Given the description of an element on the screen output the (x, y) to click on. 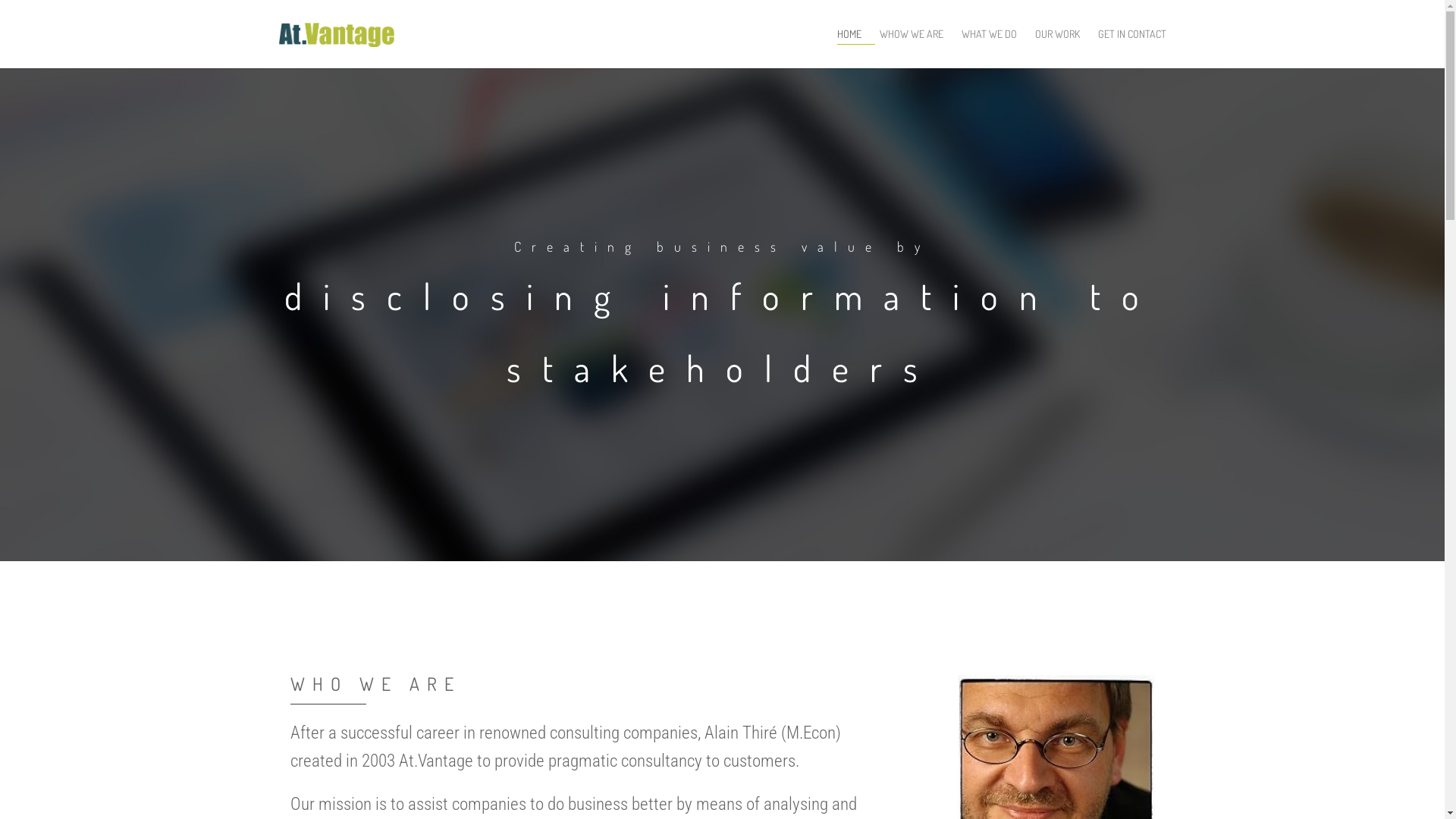
HOME Element type: text (856, 34)
WHAT WE DO Element type: text (995, 34)
GET IN CONTACT Element type: text (1132, 34)
WHOW WE ARE Element type: text (918, 34)
landbox Element type: hover (337, 12)
OUR WORK Element type: text (1063, 34)
